Given the description of an element on the screen output the (x, y) to click on. 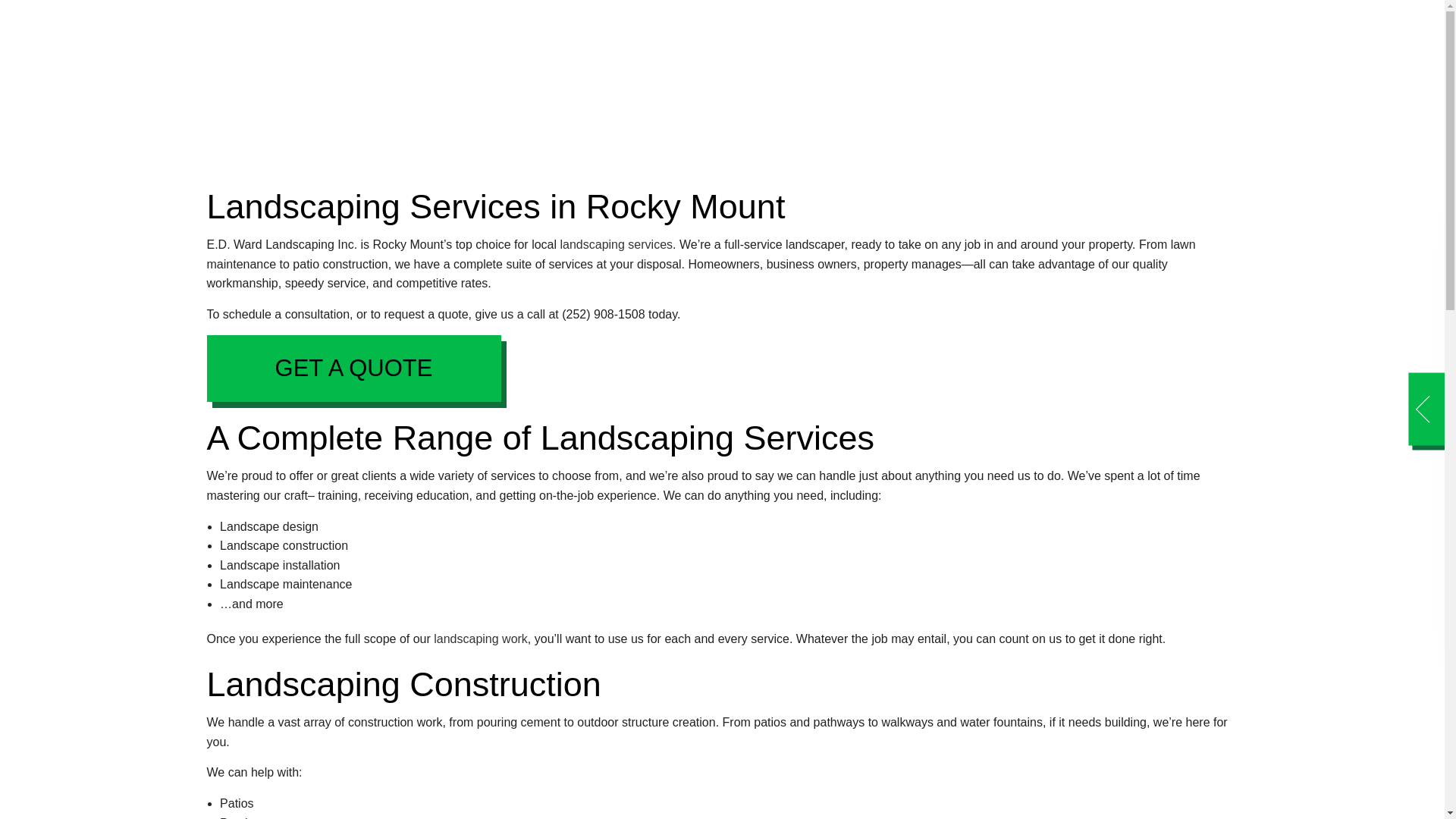
Landscaping Company (480, 638)
Landscaping Services (615, 244)
